Given the description of an element on the screen output the (x, y) to click on. 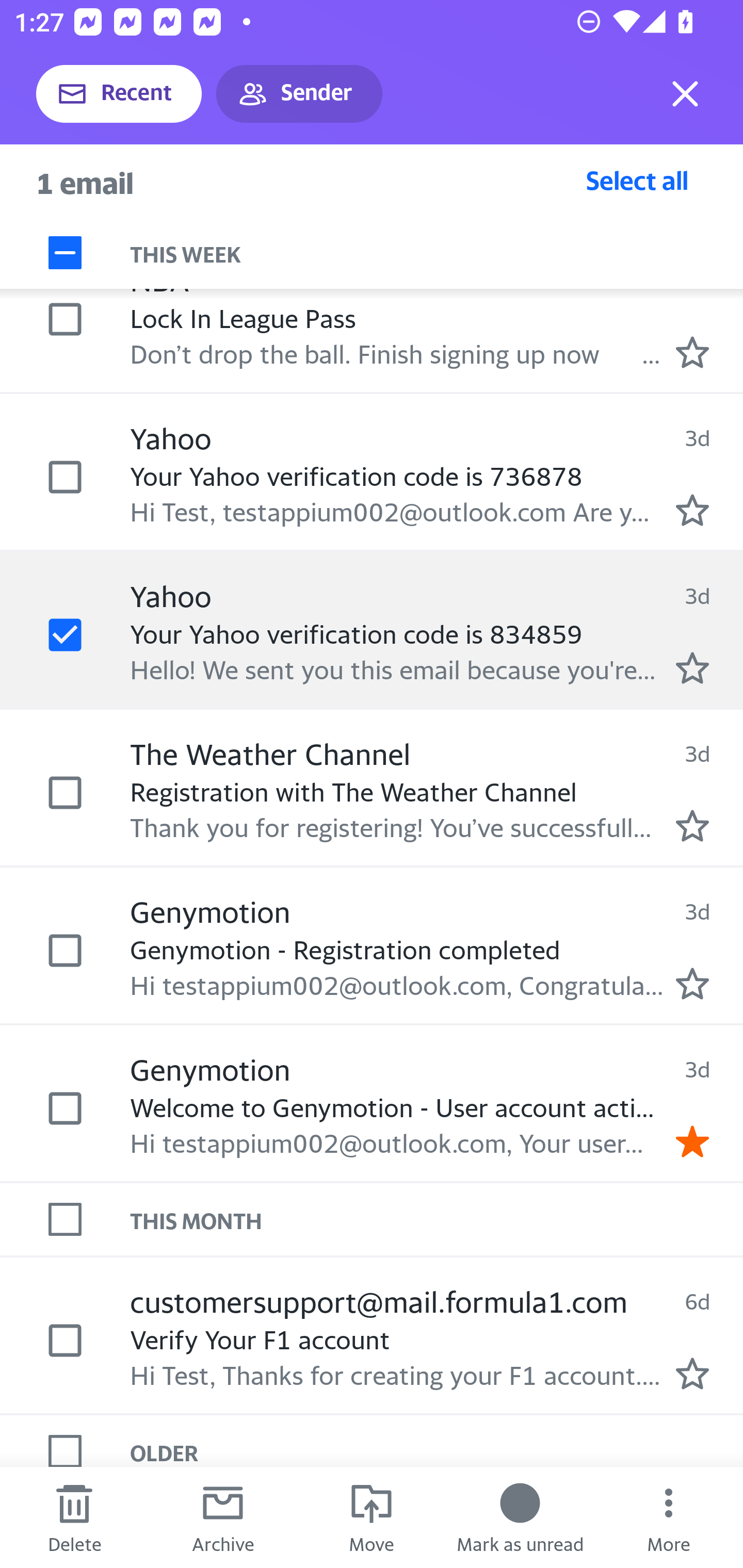
Sender (299, 93)
Exit selection mode (684, 93)
Select all (637, 180)
Mark as starred. (692, 351)
Mark as starred. (692, 510)
Mark as starred. (692, 667)
Mark as starred. (692, 825)
Mark as starred. (692, 983)
Remove star. (692, 1140)
THIS MONTH (436, 1218)
Mark as starred. (692, 1373)
OLDER (436, 1447)
Delete (74, 1517)
Archive (222, 1517)
Move (371, 1517)
Mark as unread (519, 1517)
More (668, 1517)
